Given the description of an element on the screen output the (x, y) to click on. 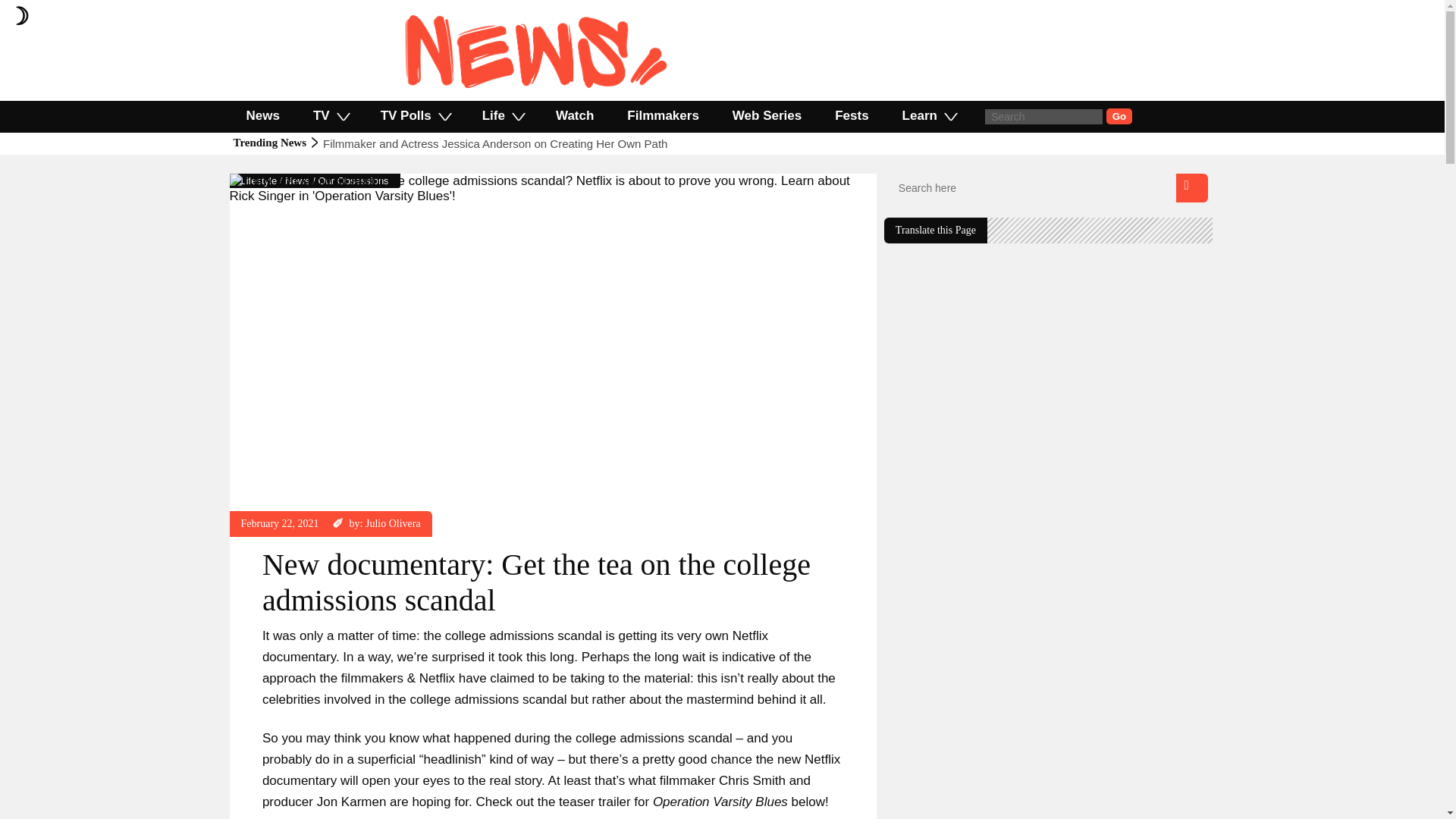
Go (1119, 116)
Watch (574, 115)
Filmmakers (663, 115)
News (261, 115)
TV Polls (414, 115)
Go (1119, 116)
Lifestyle (259, 180)
Fests (851, 115)
News (297, 180)
Go (1119, 116)
